Given the description of an element on the screen output the (x, y) to click on. 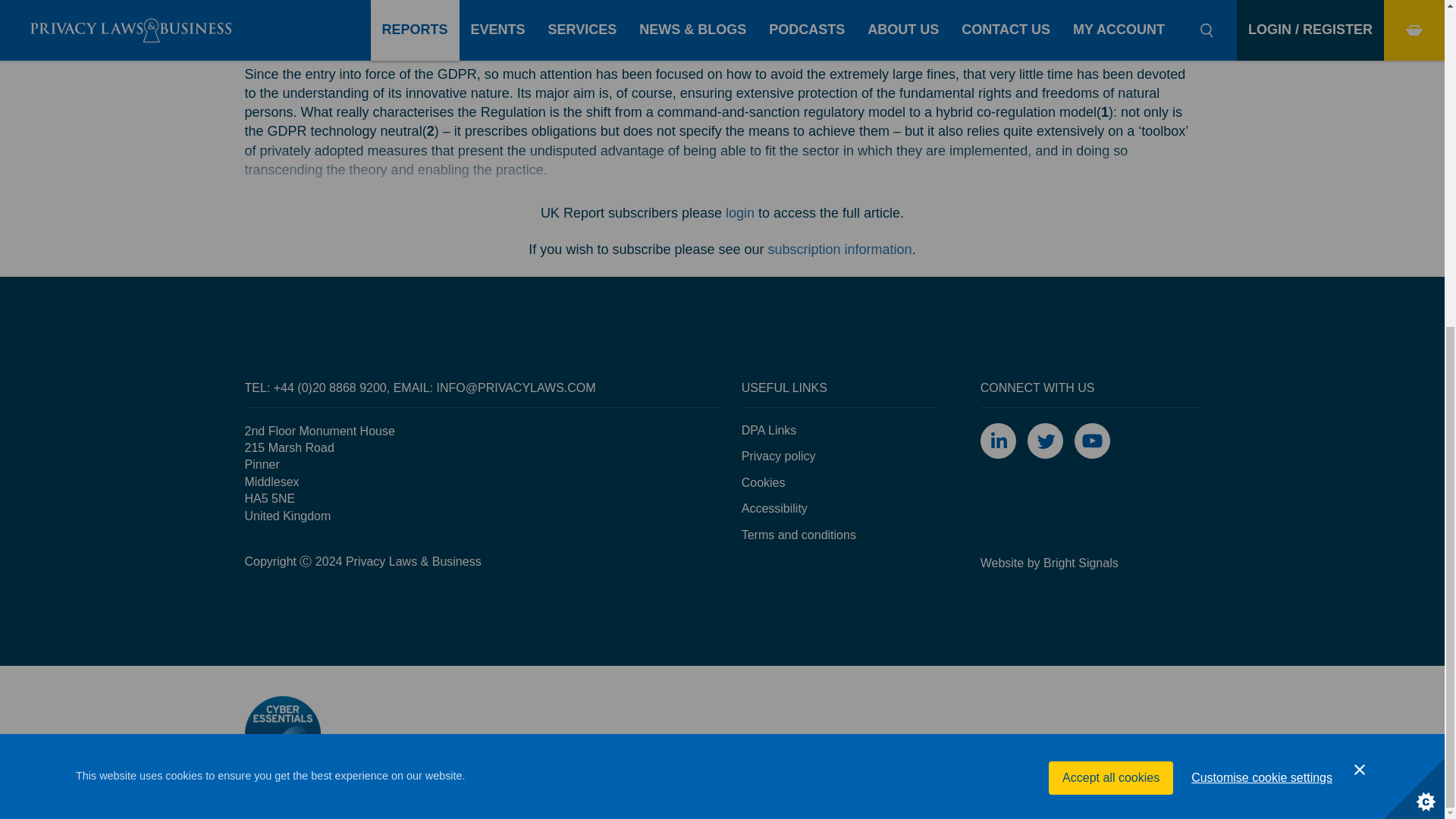
Accept all cookies (1110, 314)
Subscribe (840, 249)
Customise cookie settings (1261, 299)
